Given the description of an element on the screen output the (x, y) to click on. 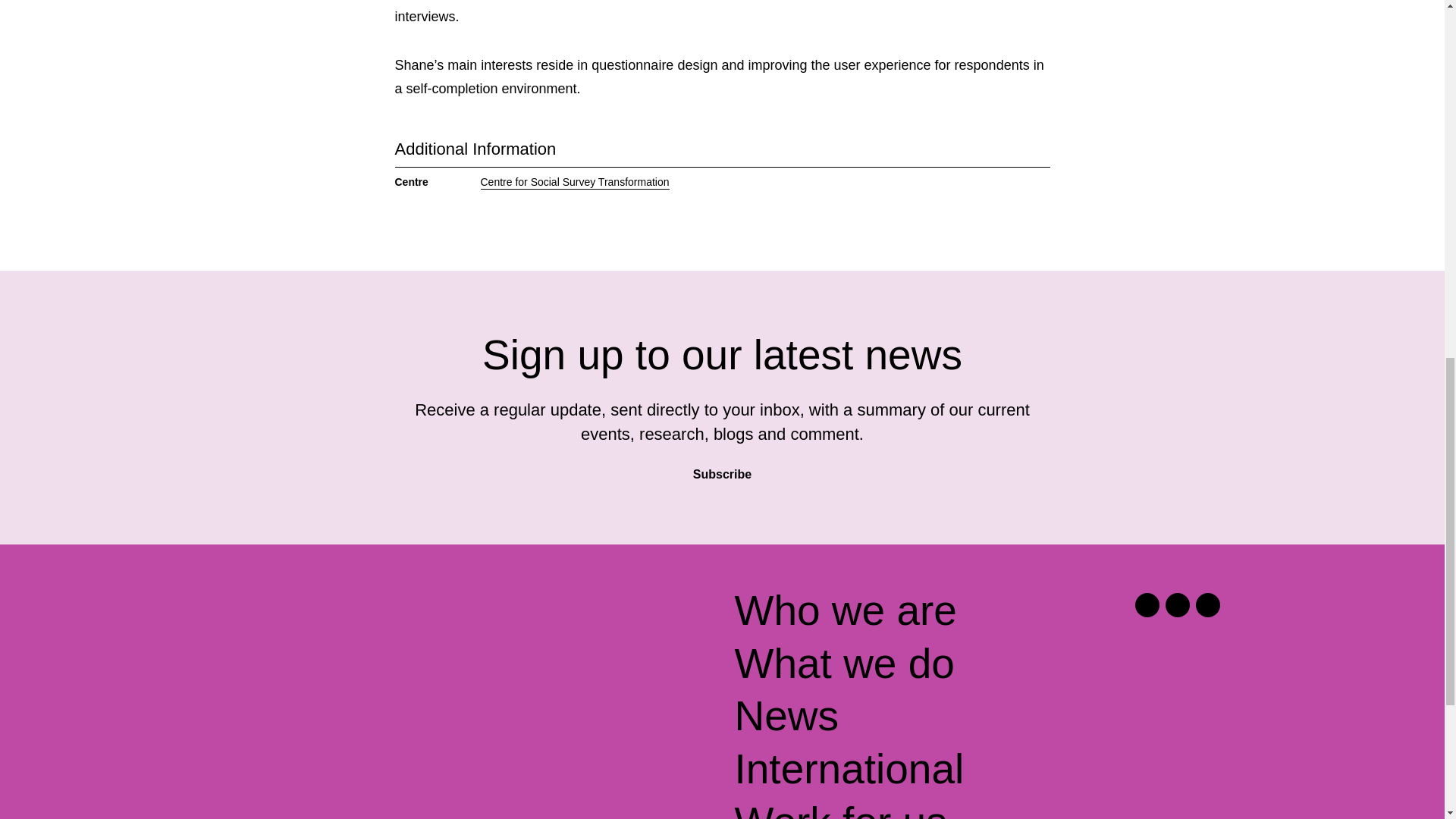
Twitter (1146, 604)
Youtube (1207, 604)
Linkedin (1176, 604)
Subscribe (722, 468)
Centre for Social Survey Transformation (574, 182)
Return to the homepage (344, 616)
What we do (843, 663)
Who we are (844, 610)
